Given the description of an element on the screen output the (x, y) to click on. 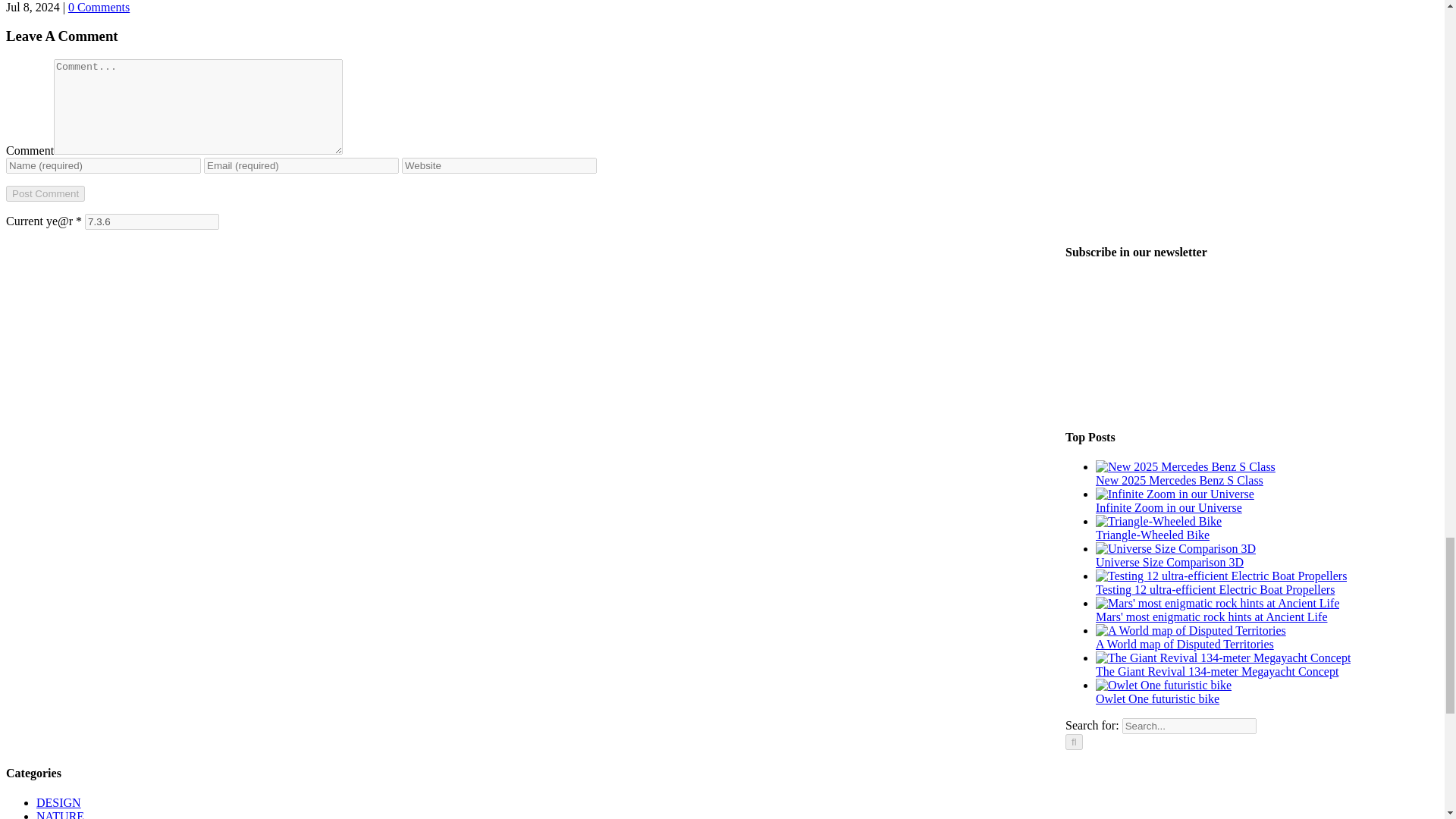
Post Comment (44, 193)
7.3.6 (151, 221)
